Given the description of an element on the screen output the (x, y) to click on. 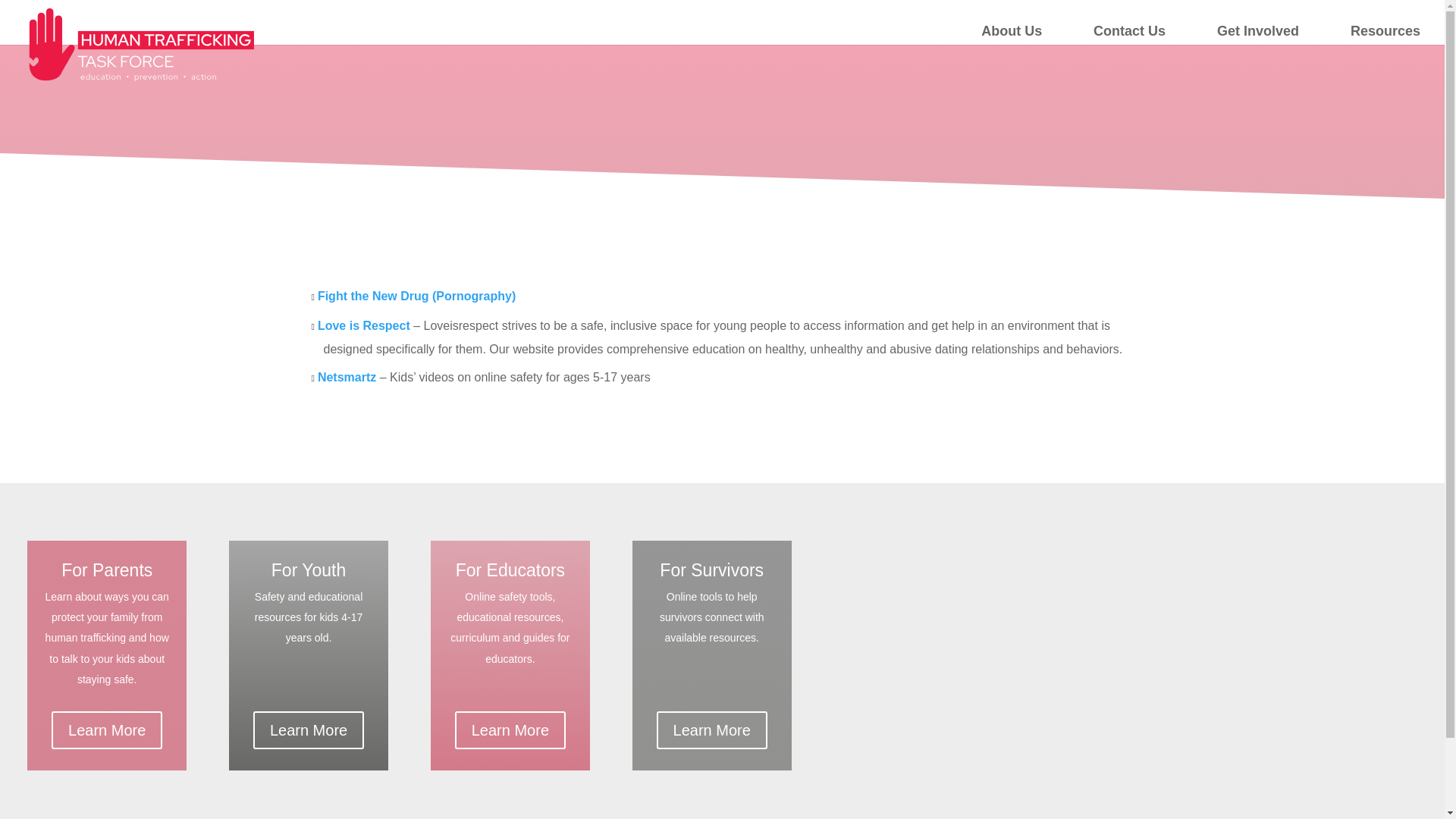
Contact Us (1129, 35)
Learn More (711, 730)
Resources (1386, 35)
Love is Respect (363, 325)
Netsmartz (346, 377)
Learn More (308, 730)
Learn More (105, 730)
Learn More (510, 730)
Get Involved (1257, 35)
About Us (1011, 35)
